Given the description of an element on the screen output the (x, y) to click on. 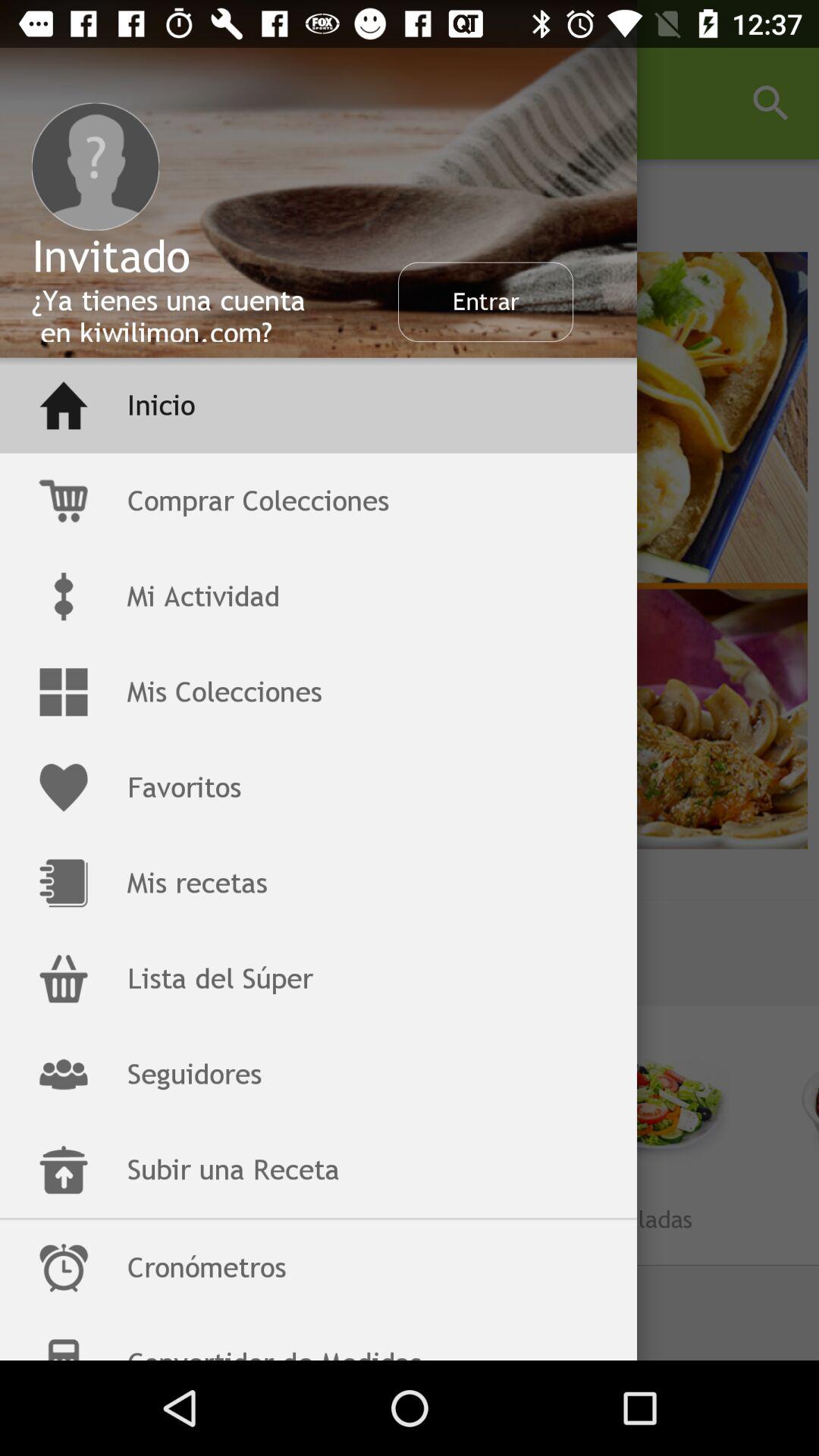
select the icon which is before mis recetas on a page (63, 883)
